Given the description of an element on the screen output the (x, y) to click on. 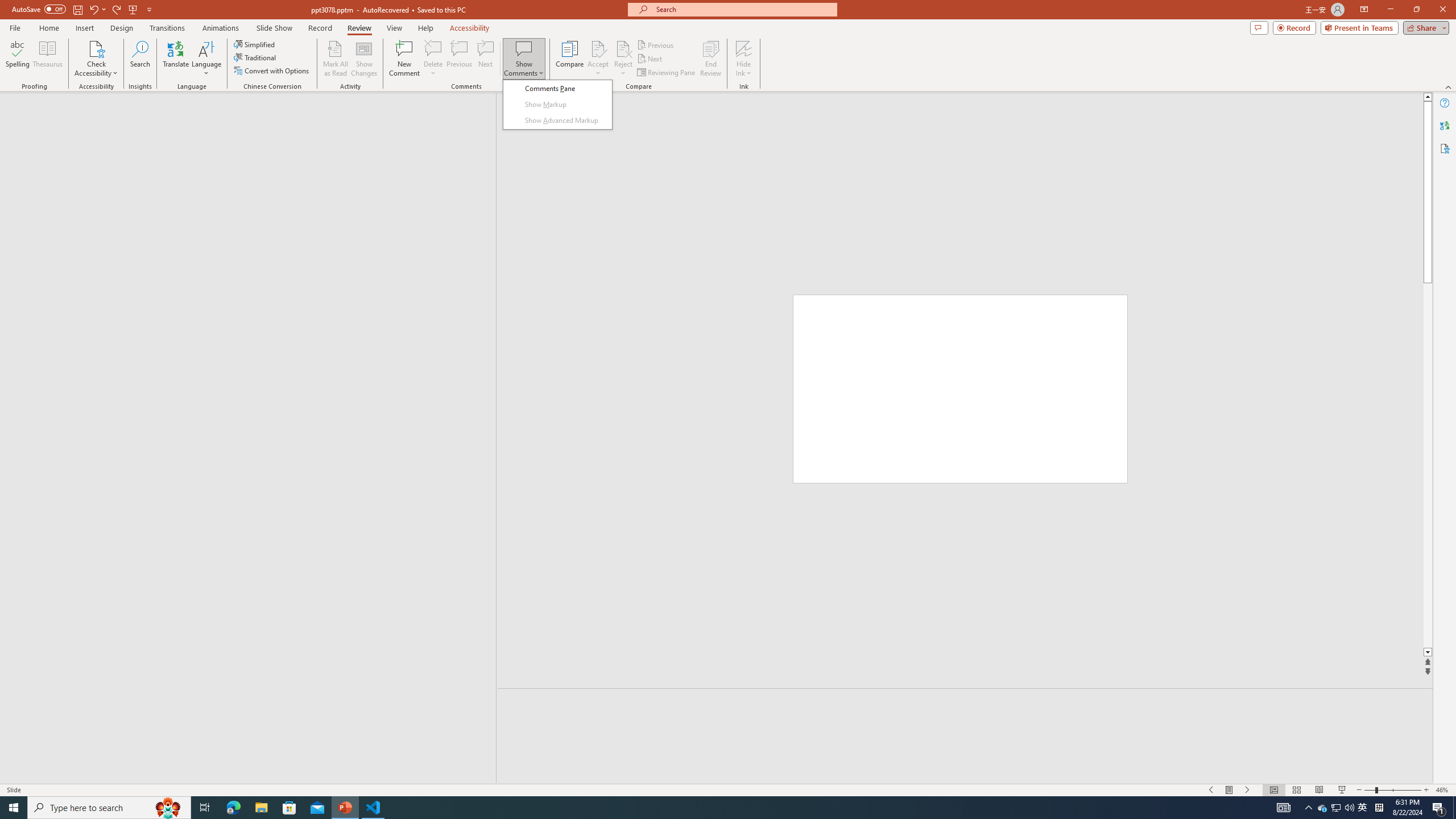
Language (206, 58)
